Given the description of an element on the screen output the (x, y) to click on. 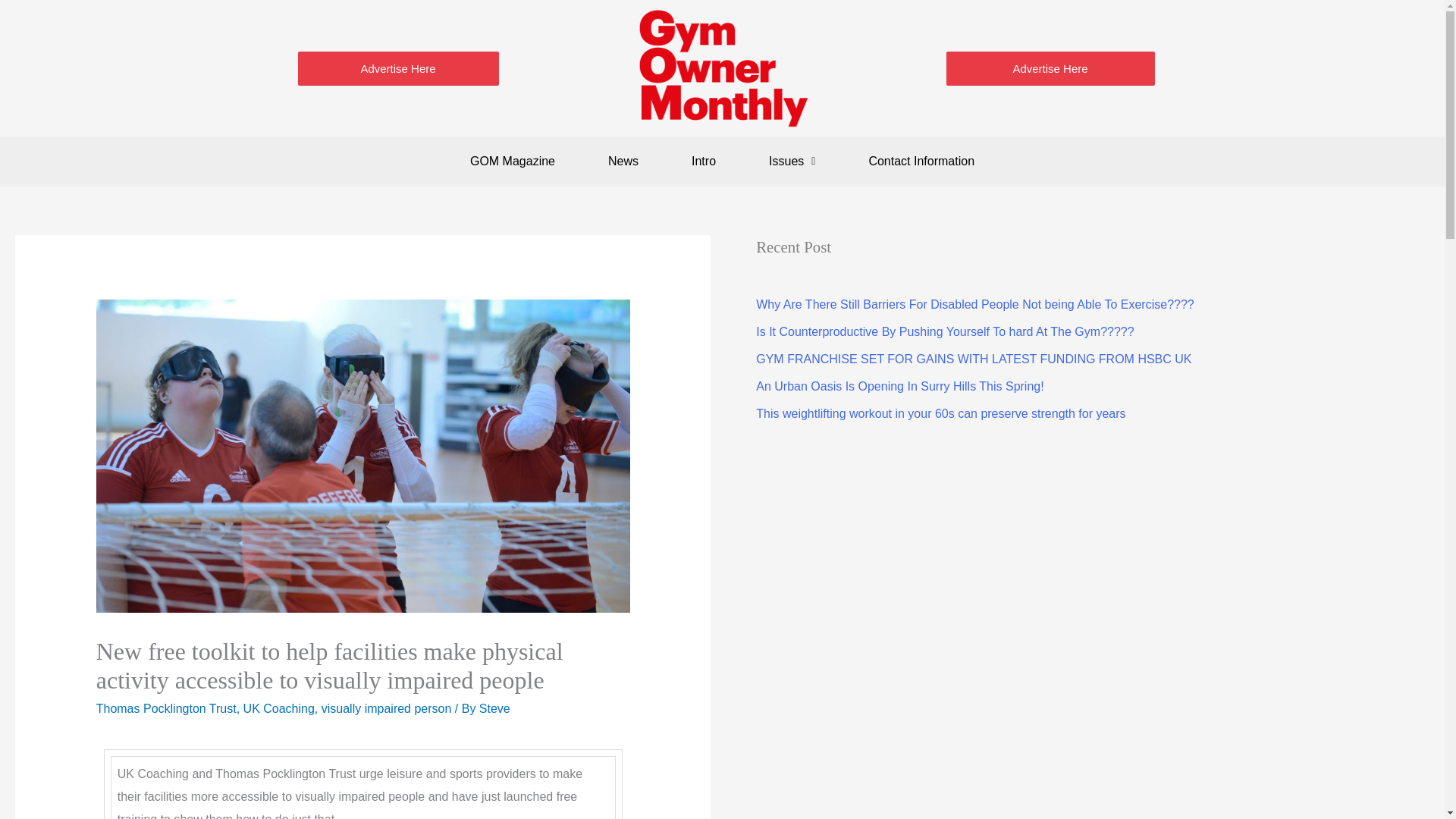
Issues (792, 161)
UK Coaching (278, 707)
Steve (495, 707)
Intro (702, 161)
An Urban Oasis Is Opening In Surry Hills This Spring! (899, 386)
GYM FRANCHISE SET FOR GAINS WITH LATEST FUNDING FROM HSBC UK (973, 358)
Contact Information (921, 161)
Advertise Here (1050, 68)
